Given the description of an element on the screen output the (x, y) to click on. 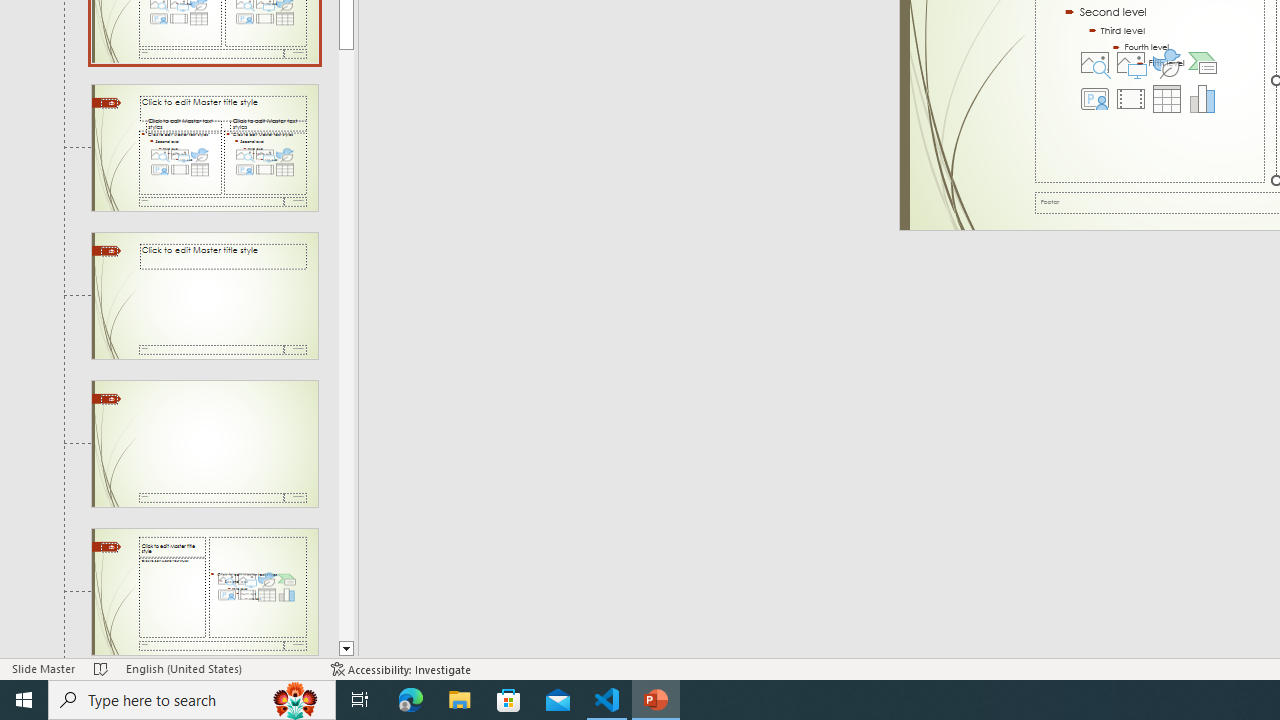
Slide Blank Layout: used by no slides (204, 592)
